Given the description of an element on the screen output the (x, y) to click on. 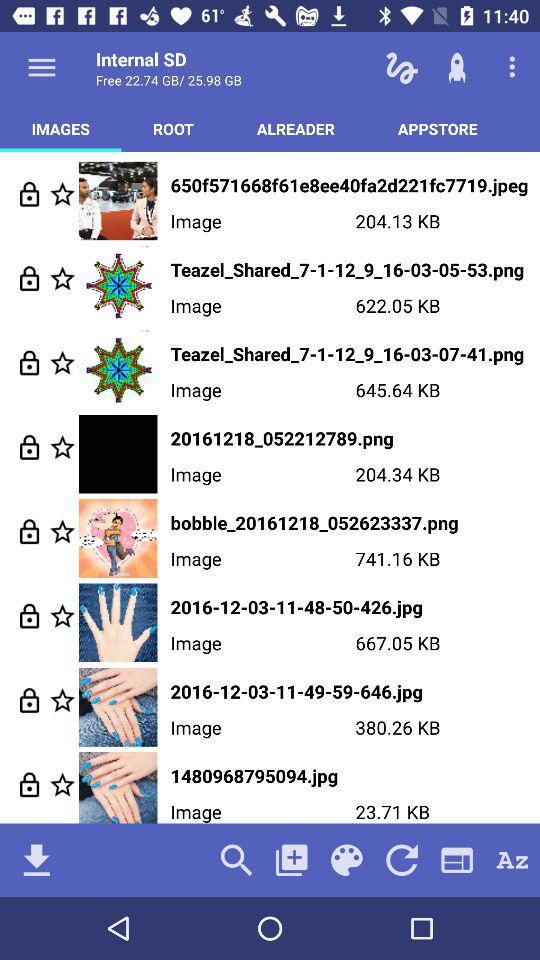
nlock (29, 278)
